Given the description of an element on the screen output the (x, y) to click on. 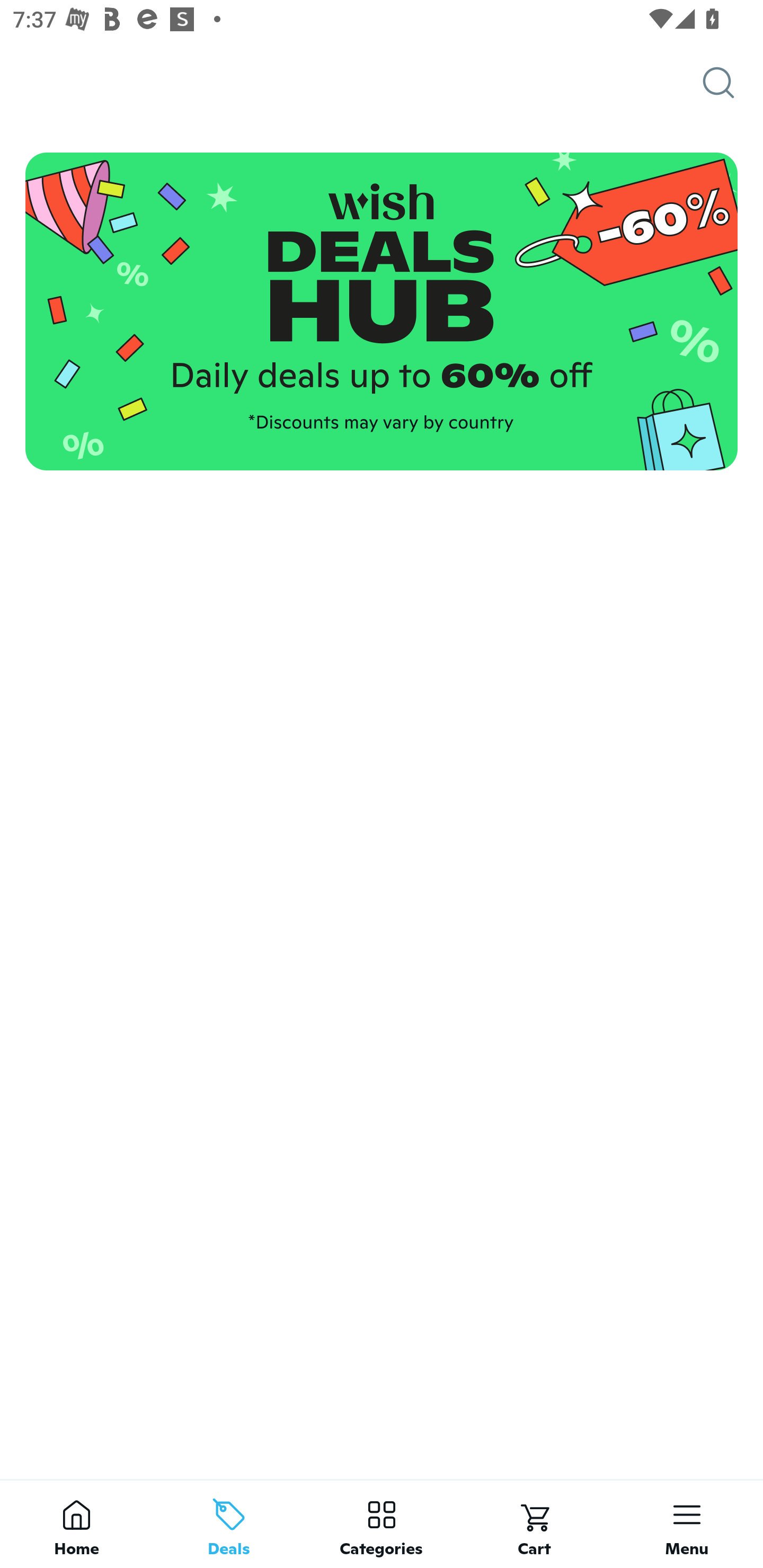
Search (732, 82)
Home (76, 1523)
Deals (228, 1523)
Categories (381, 1523)
Cart (533, 1523)
Menu (686, 1523)
